Given the description of an element on the screen output the (x, y) to click on. 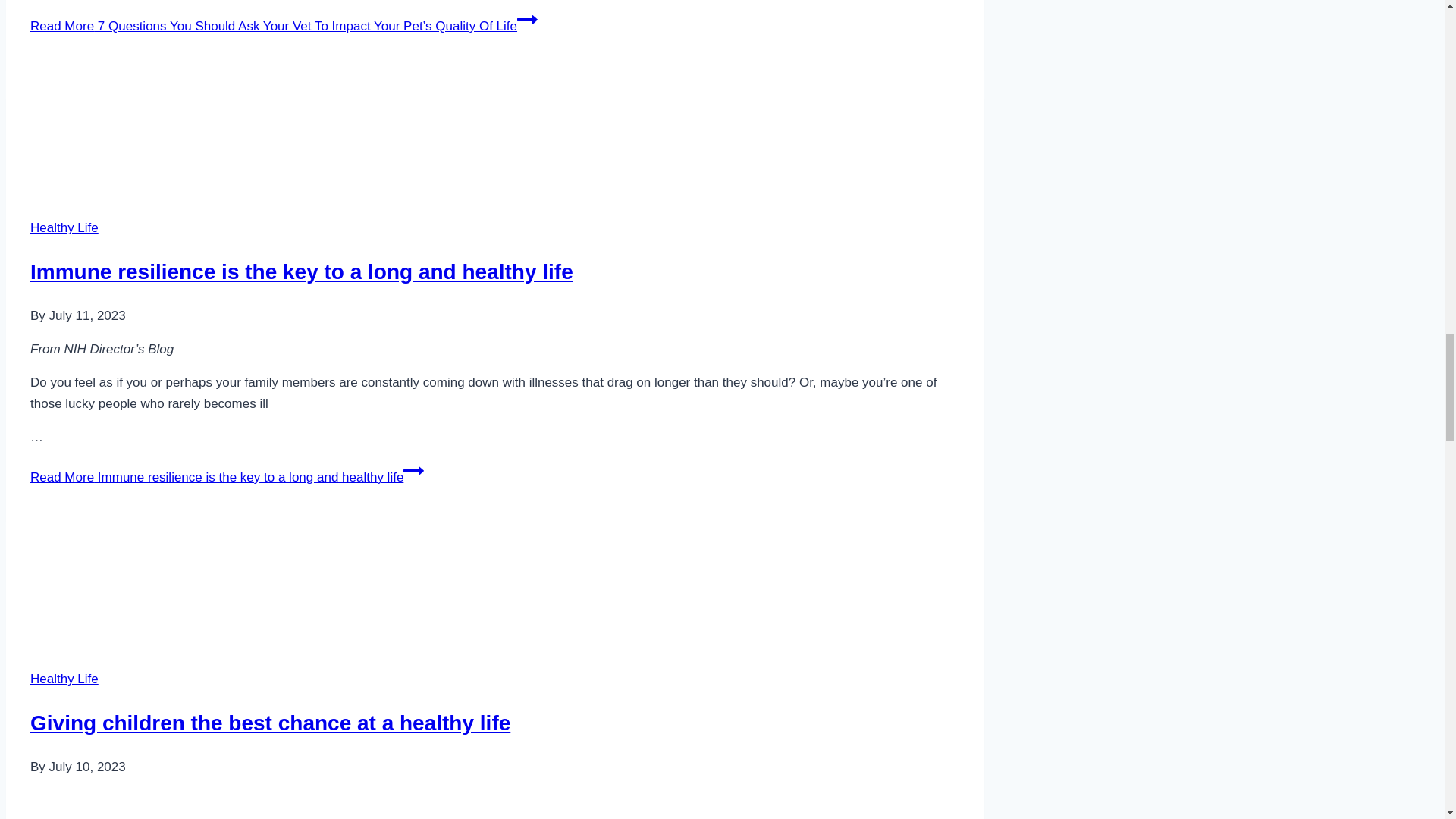
Immune resilience is the key to a long and healthy life (296, 130)
Giving children the best chance at a healthy life (296, 581)
Continue (413, 470)
Continue (526, 19)
Healthy Life (64, 227)
Immune resilience is the key to a long and healthy life (301, 271)
Giving children the best chance at a healthy life (270, 722)
Healthy Life (64, 678)
